Given the description of an element on the screen output the (x, y) to click on. 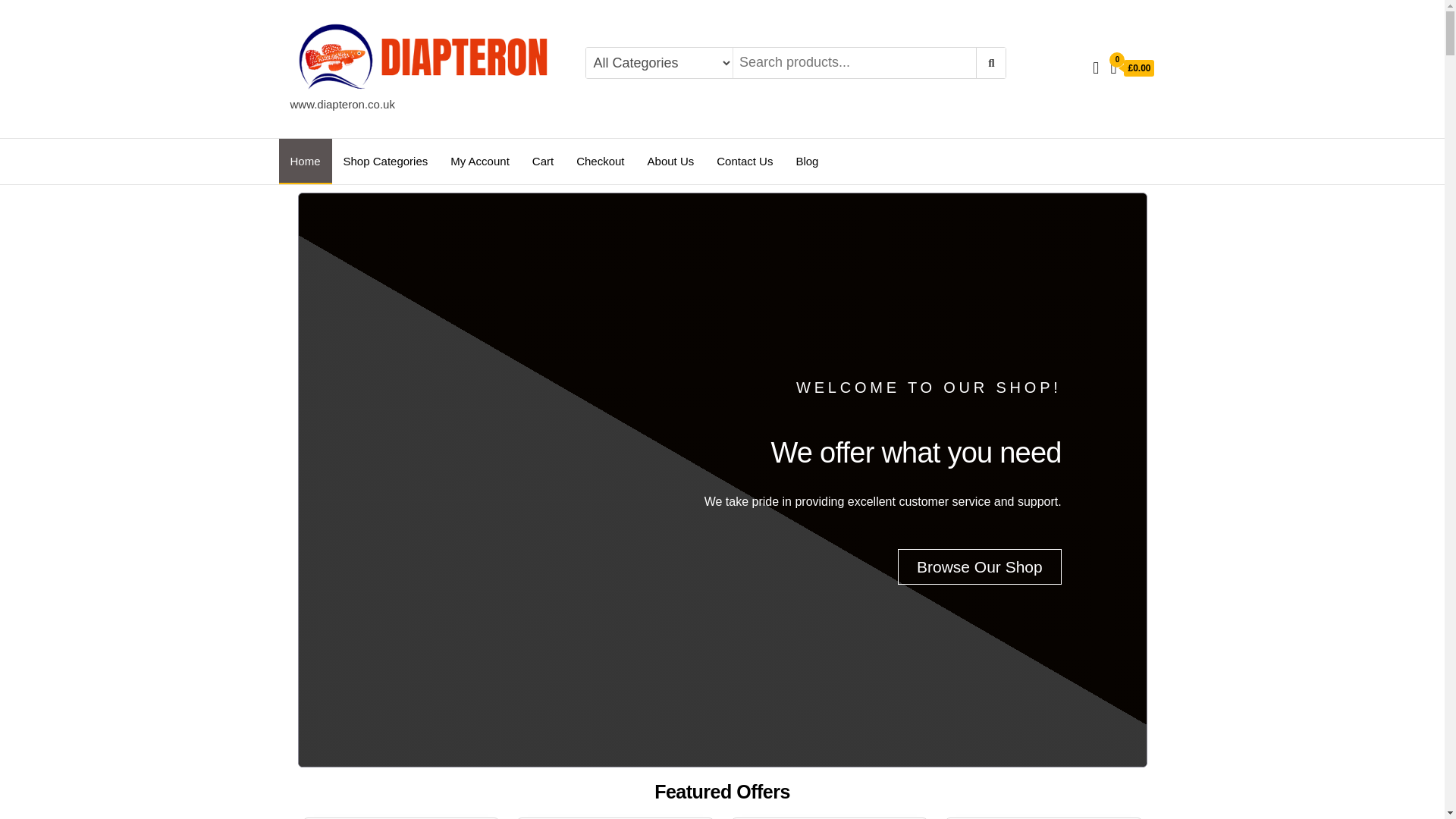
Browse Our Shop (979, 566)
About Us (671, 161)
Contact Us (744, 161)
Blog (806, 161)
Contact Us (744, 161)
Cart (542, 161)
Shop Categories (385, 161)
My Account (480, 161)
My Account (480, 161)
Shop Categories (385, 161)
